Given the description of an element on the screen output the (x, y) to click on. 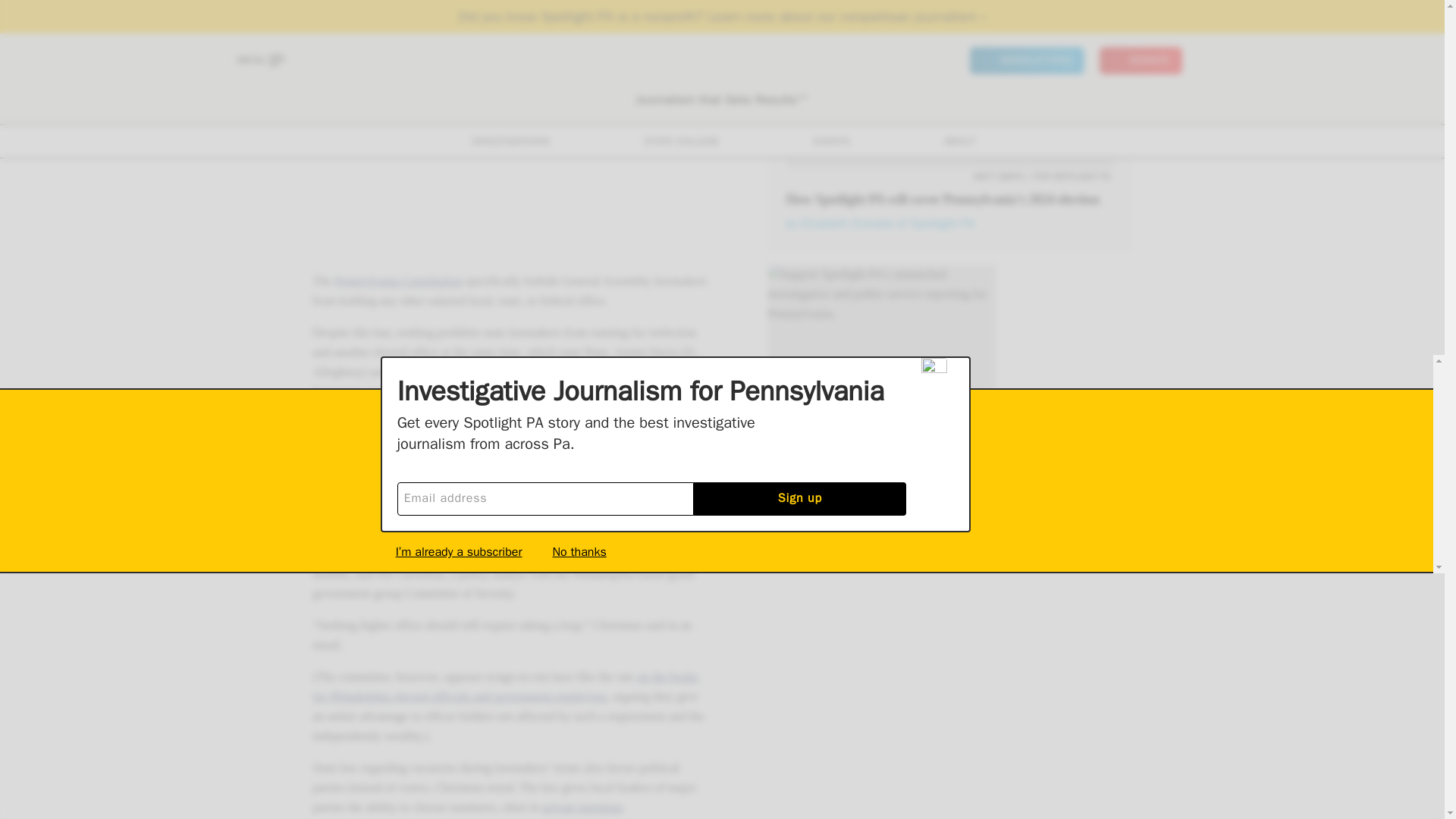
A sticker proclaiming "I voted" in a Pennsylvania election. (949, 84)
